Given the description of an element on the screen output the (x, y) to click on. 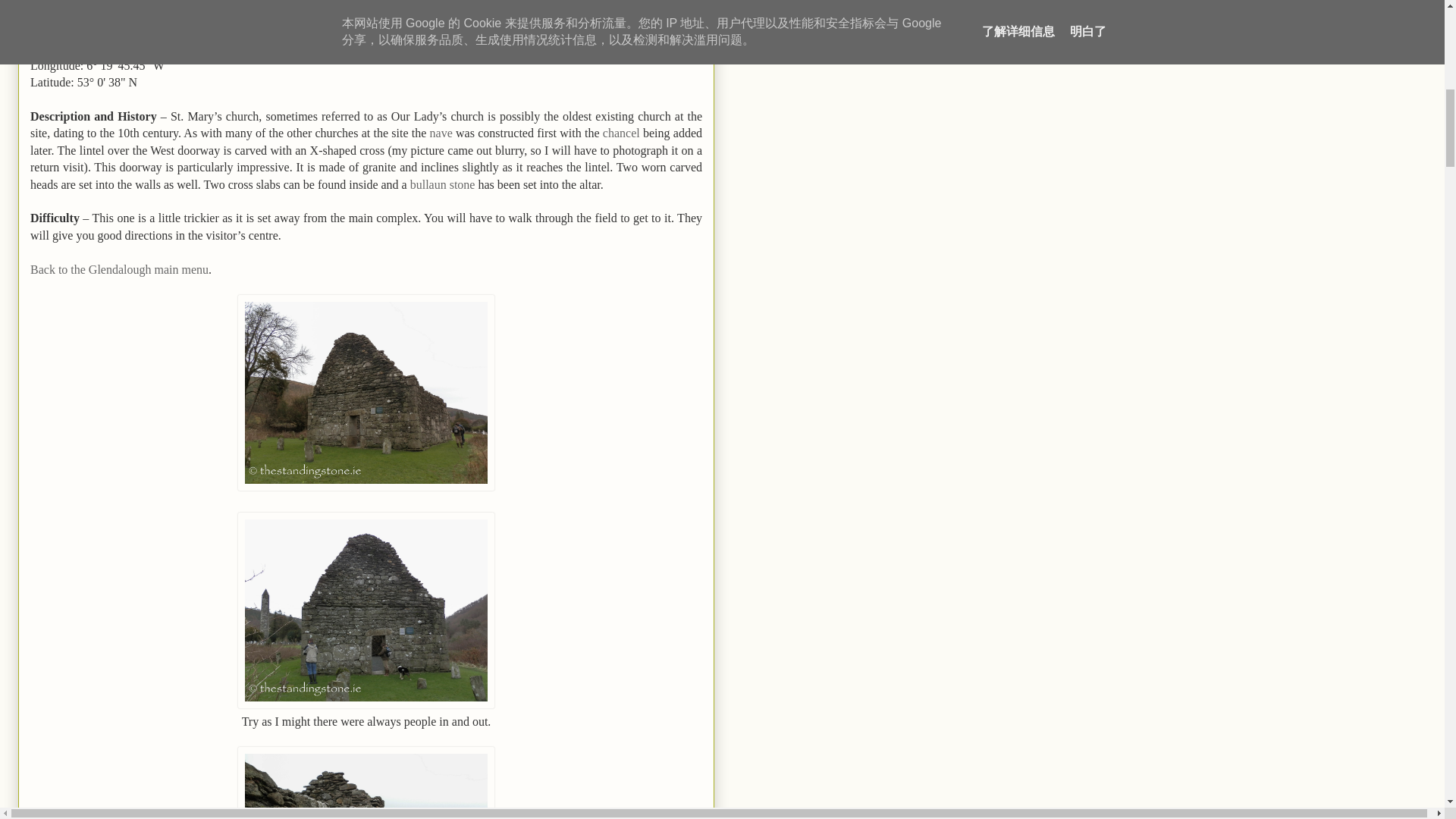
nave (440, 132)
chancel (621, 132)
Back to the Glendalough main menu (119, 269)
bullaun stone (443, 184)
